Given the description of an element on the screen output the (x, y) to click on. 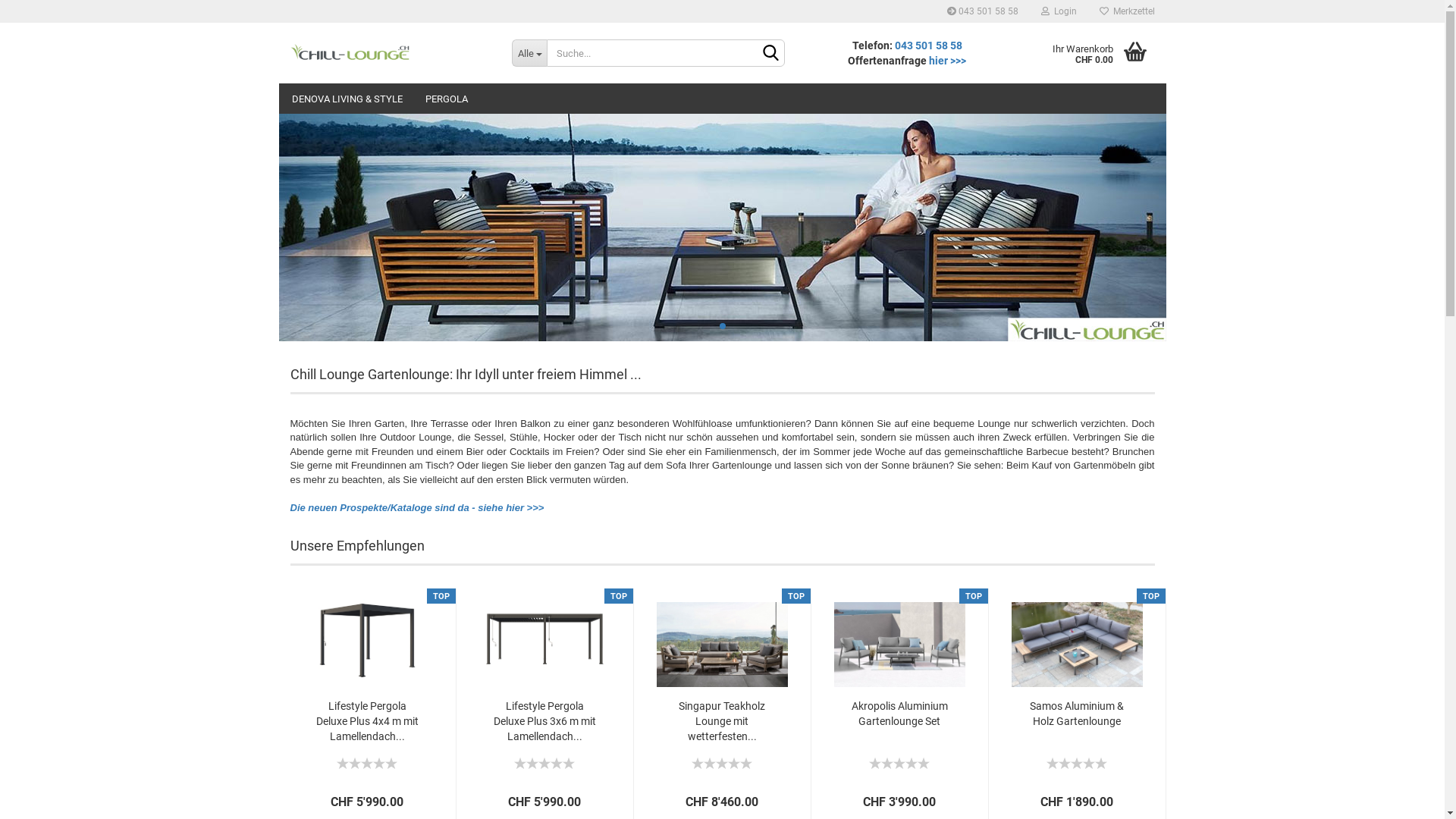
hier >>> Element type: text (947, 60)
Singapur Teakholz Lounge mit wetterfesten Outdoorkissen Element type: hover (721, 637)
Alle Element type: text (528, 52)
043 501 58 58 Element type: text (928, 45)
Akropolis Aluminium Gartenlounge Set Element type: hover (898, 767)
Bisher wurden keine Rezensionen zu diesem Produkt abgegeben Element type: hover (544, 761)
Akropolis Aluminium Gartenlounge Set Element type: hover (899, 637)
Samos Aluminium & Holz Gartenlounge Element type: hover (1076, 637)
Bisher wurden keine Rezensionen zu diesem Produkt abgegeben Element type: hover (899, 761)
 Login Element type: text (1058, 11)
Bisher wurden keine Rezensionen zu diesem Produkt abgegeben Element type: hover (366, 761)
 Merkzettel Element type: text (1126, 11)
Akropolis Aluminium Gartenlounge Set Element type: text (898, 713)
Bisher wurden keine Rezensionen zu diesem Produkt abgegeben Element type: hover (1076, 761)
Neuer Slide 1 Element type: hover (722, 227)
DENOVA LIVING & STYLE Element type: text (347, 98)
Samos Aluminium & Holz Gartenlounge Element type: text (1076, 713)
Ihr Warenkorb
CHF 0.00 Element type: text (1091, 52)
Lifestyle Pergola Deluxe Plus 3x6 m mit Lamellendach... Element type: text (543, 720)
Die neuen Prospekte/Kataloge sind da - siehe hier >>> Element type: text (416, 507)
Lifestyle Pergola Deluxe Plus 4x4 m mit Lamellendach... Element type: text (366, 720)
Anmelden Element type: text (975, 185)
Bisher wurden keine Rezensionen zu diesem Produkt abgegeben Element type: hover (721, 761)
PERGOLA Element type: text (446, 98)
Singapur Teakholz Lounge mit wetterfesten... Element type: text (721, 720)
Denova Samos Aluminium & Holz Gartenlounge Element type: hover (1076, 767)
043 501 58 58 Element type: text (982, 11)
